Given the description of an element on the screen output the (x, y) to click on. 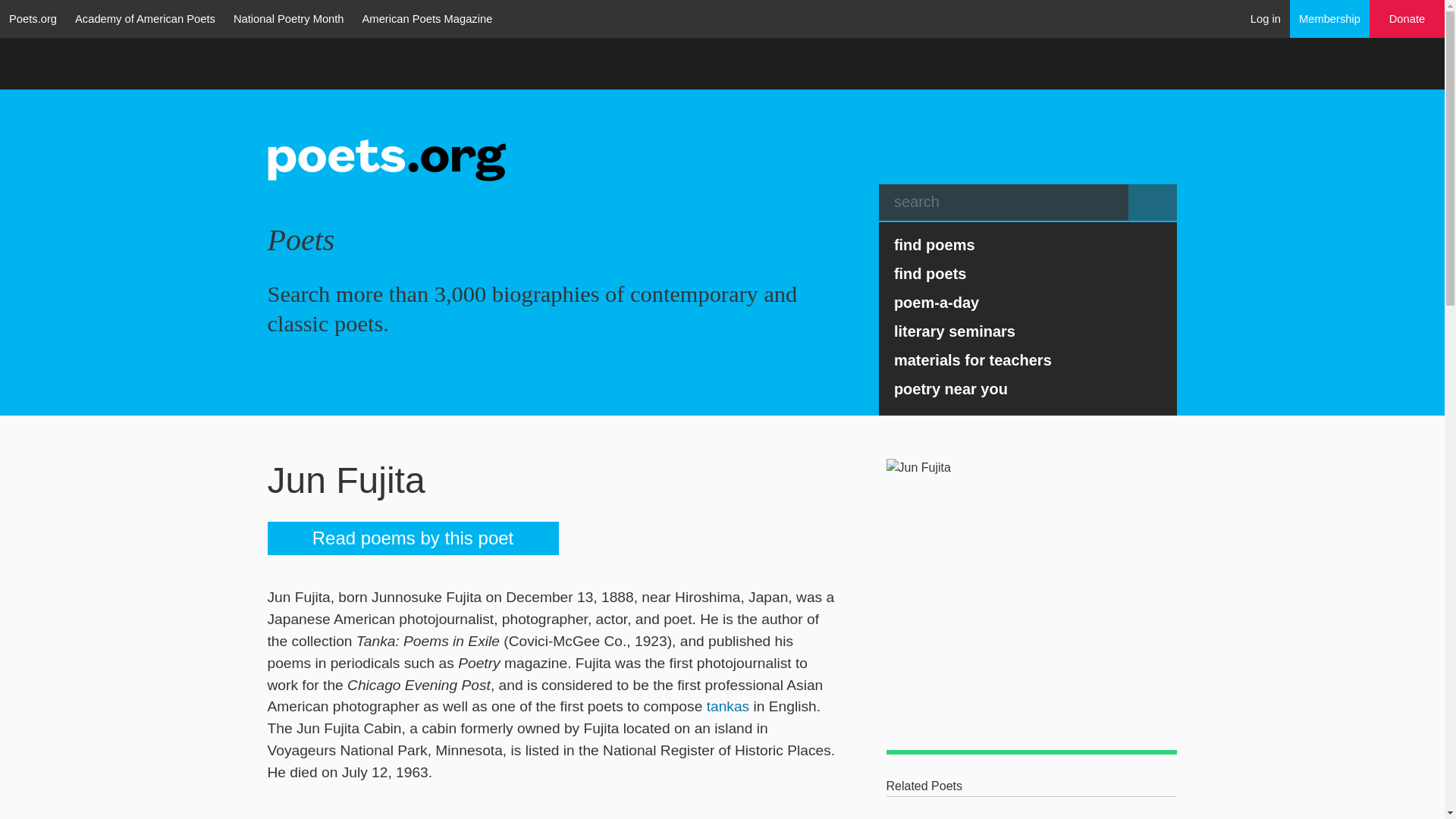
tankas (727, 706)
Become a member of the Academy of American Poets (1330, 18)
poem-a-day (1028, 302)
materials for teachers (1028, 359)
American Poets Magazine (427, 18)
poetry near you (1028, 388)
materials for teachers (1028, 359)
literary seminars (1028, 330)
poetry near you (1028, 388)
find poems (1028, 244)
Log in (1265, 18)
Membership (1330, 18)
find poets (1028, 273)
Donate (1407, 18)
Read poems by this poet (411, 538)
